Given the description of an element on the screen output the (x, y) to click on. 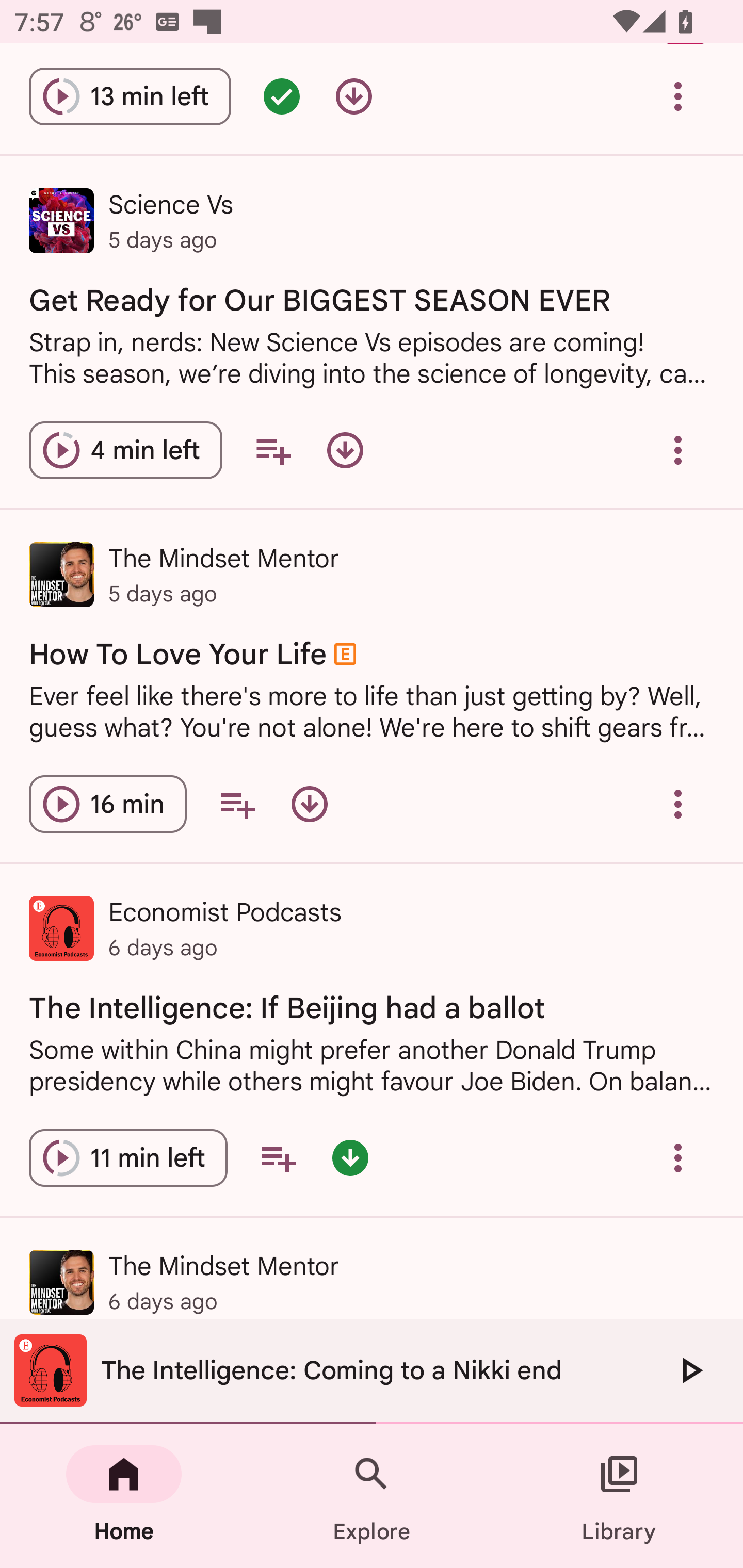
Episode queued - double tap for options (281, 96)
Download episode (354, 96)
Overflow menu (677, 96)
Add to your queue (273, 450)
Download episode (345, 450)
Overflow menu (677, 450)
Play episode How To Love Your Life 16 min (107, 803)
Add to your queue (237, 803)
Download episode (309, 803)
Overflow menu (677, 803)
Add to your queue (278, 1157)
Episode downloaded - double tap for options (350, 1157)
Overflow menu (677, 1157)
Play (690, 1370)
Explore (371, 1495)
Library (619, 1495)
